Given the description of an element on the screen output the (x, y) to click on. 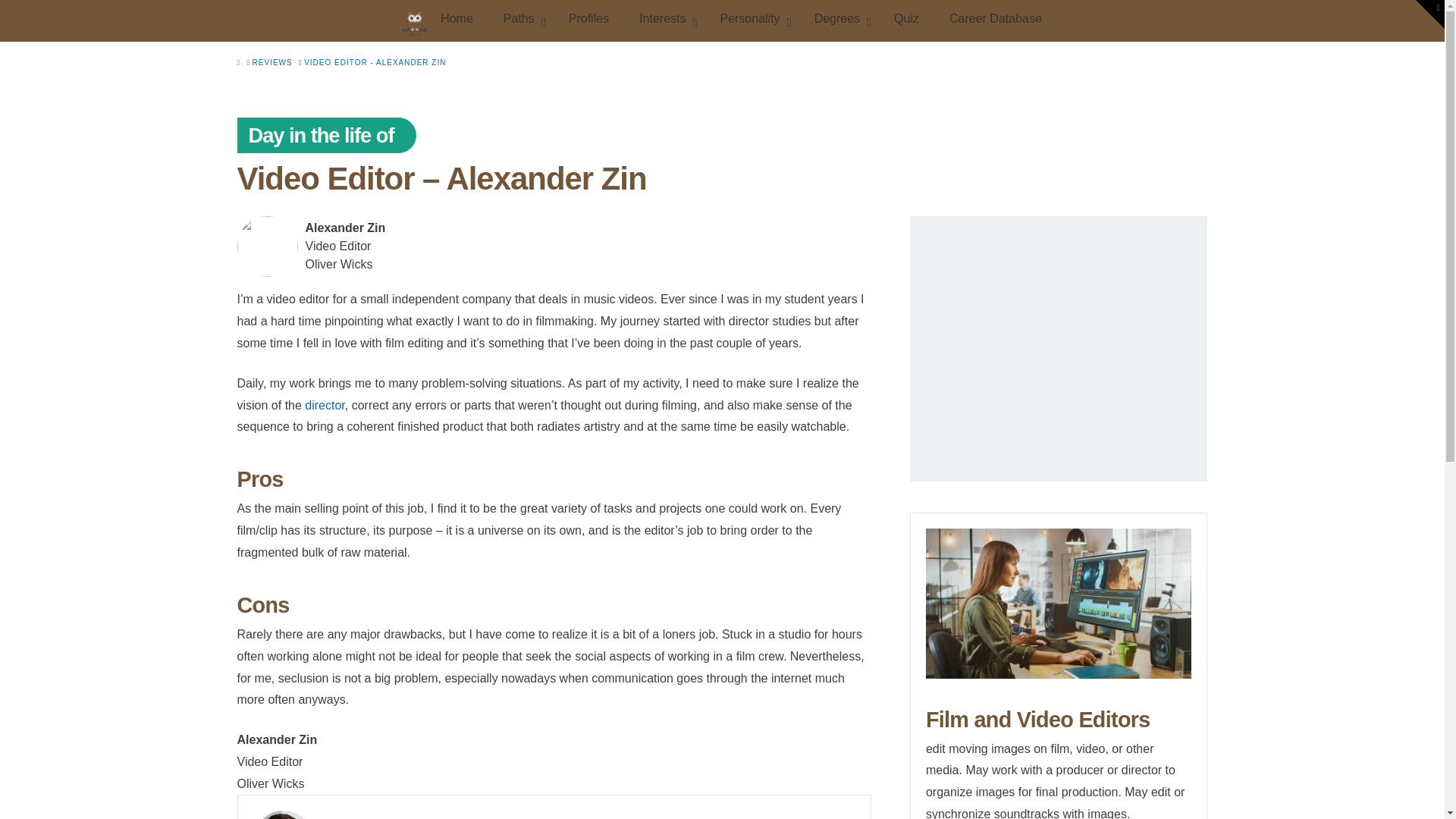
Profiles (588, 20)
REVIEWS (271, 62)
Home (437, 20)
You Are Here (374, 62)
Paths (520, 20)
Personality (750, 20)
VIDEO EDITOR - ALEXANDER ZIN (374, 62)
Degrees (839, 20)
director (323, 404)
Career Database (995, 20)
